Given the description of an element on the screen output the (x, y) to click on. 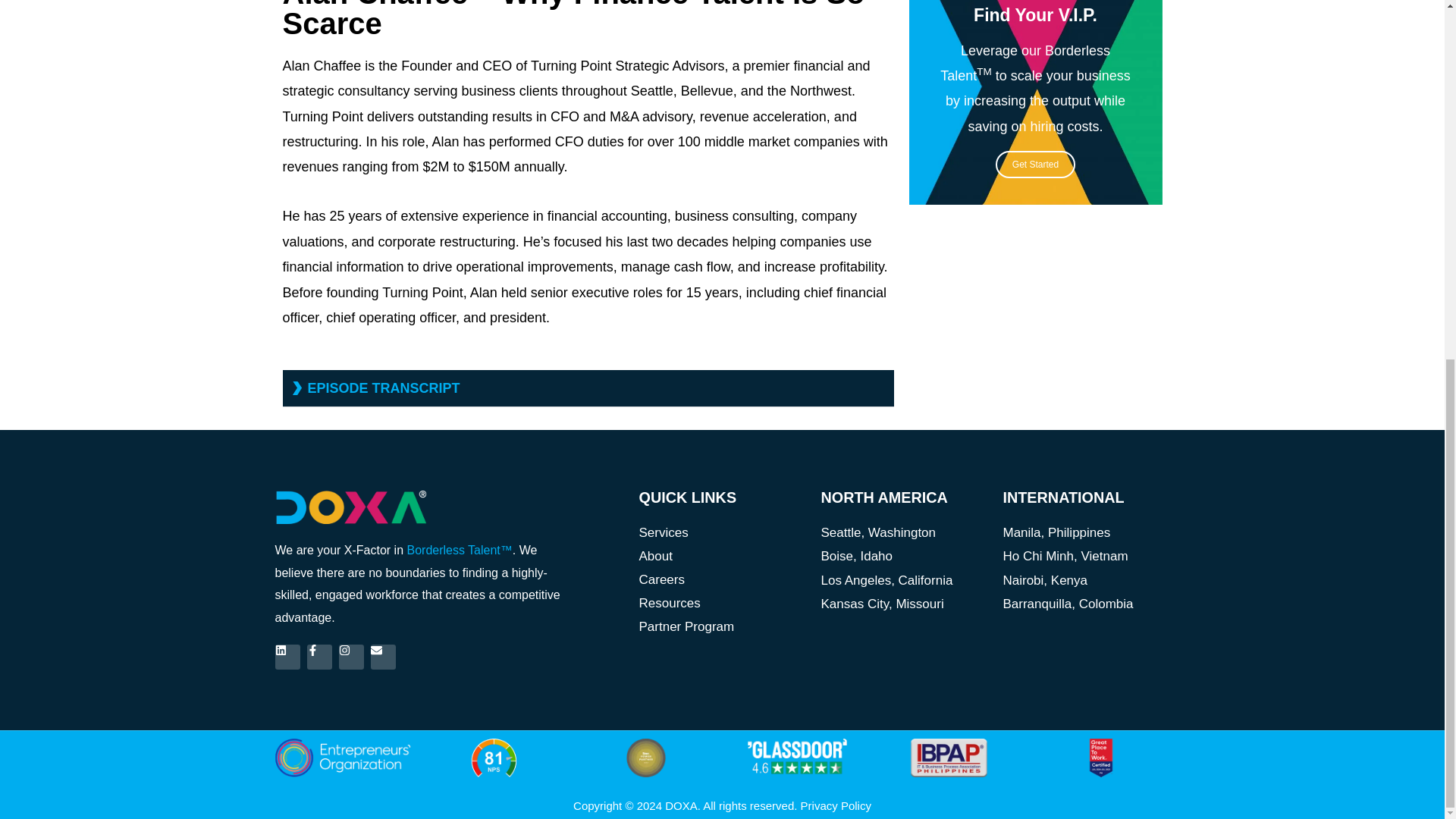
Careers (722, 579)
Partner Program (722, 626)
Get Started (1035, 164)
About (722, 556)
Resources (722, 603)
EPISODE TRANSCRIPT (383, 387)
Services (722, 532)
